Given the description of an element on the screen output the (x, y) to click on. 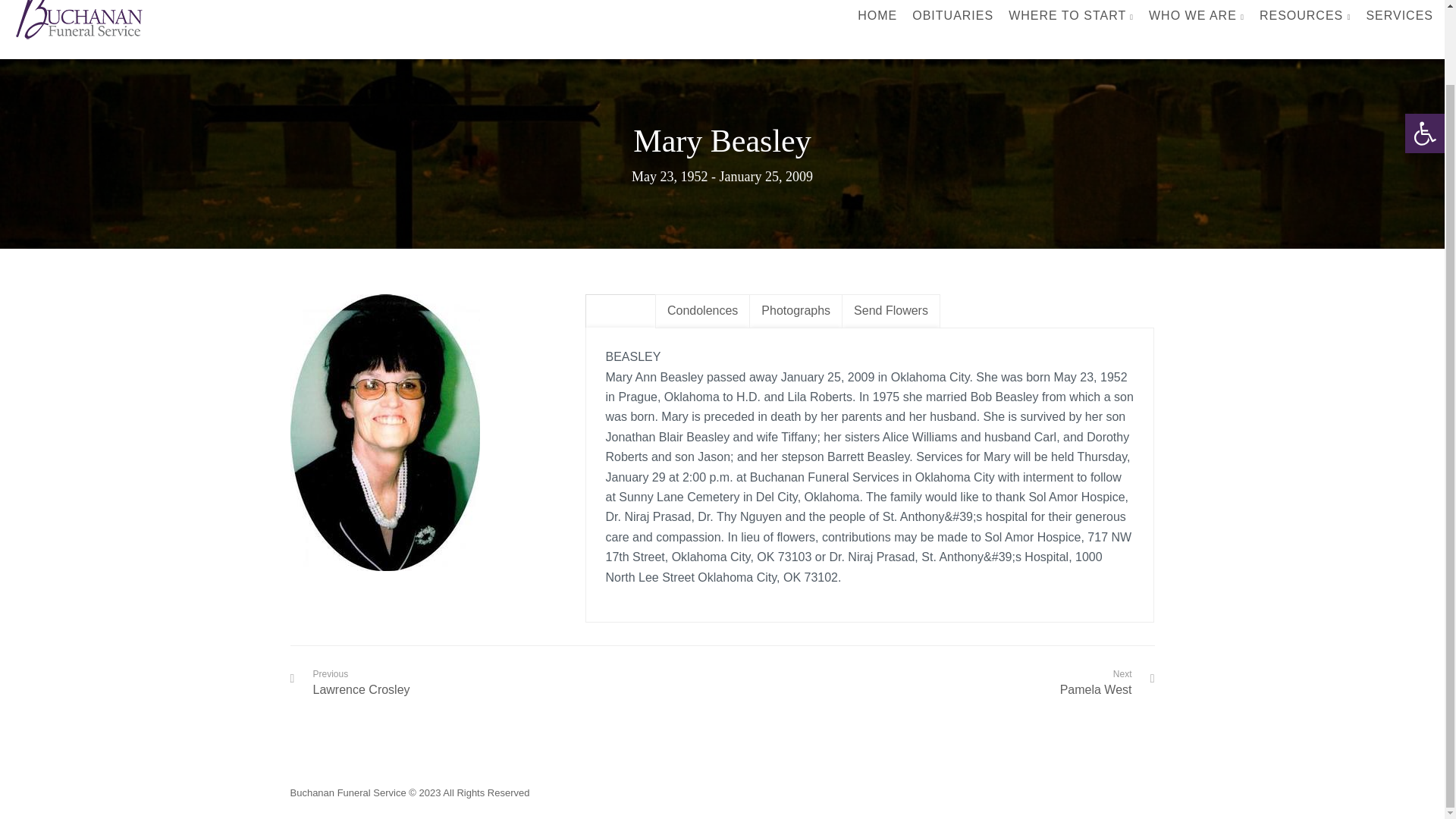
Photographs (796, 311)
Accessibility Tools (1424, 49)
OBITUARIES (952, 24)
SERVICES (1398, 24)
RESOURCES (1305, 24)
Condolences (702, 311)
Recent Obituaries (952, 24)
Where to start planning (1071, 24)
Obituary (620, 311)
Send Flowers (890, 311)
WHO WE ARE (1196, 24)
WHERE TO START (1071, 24)
Who We Are (1196, 24)
